Given the description of an element on the screen output the (x, y) to click on. 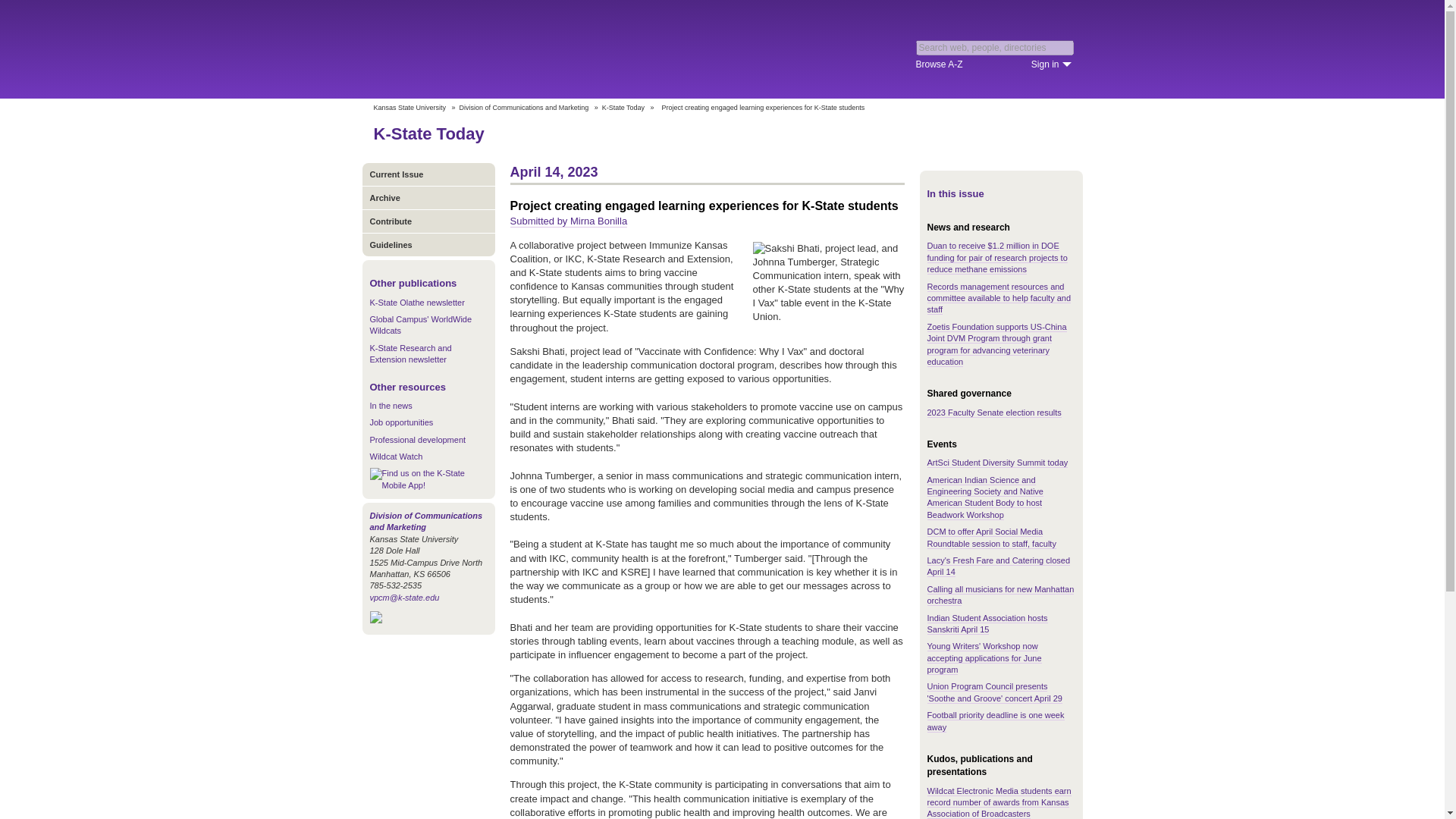
Job opportunities (401, 421)
Archive (428, 197)
ArtSci Student Diversity Summit today (996, 462)
Contribute (428, 220)
Division of Communications and Marketing (524, 107)
In the news (390, 405)
